Given the description of an element on the screen output the (x, y) to click on. 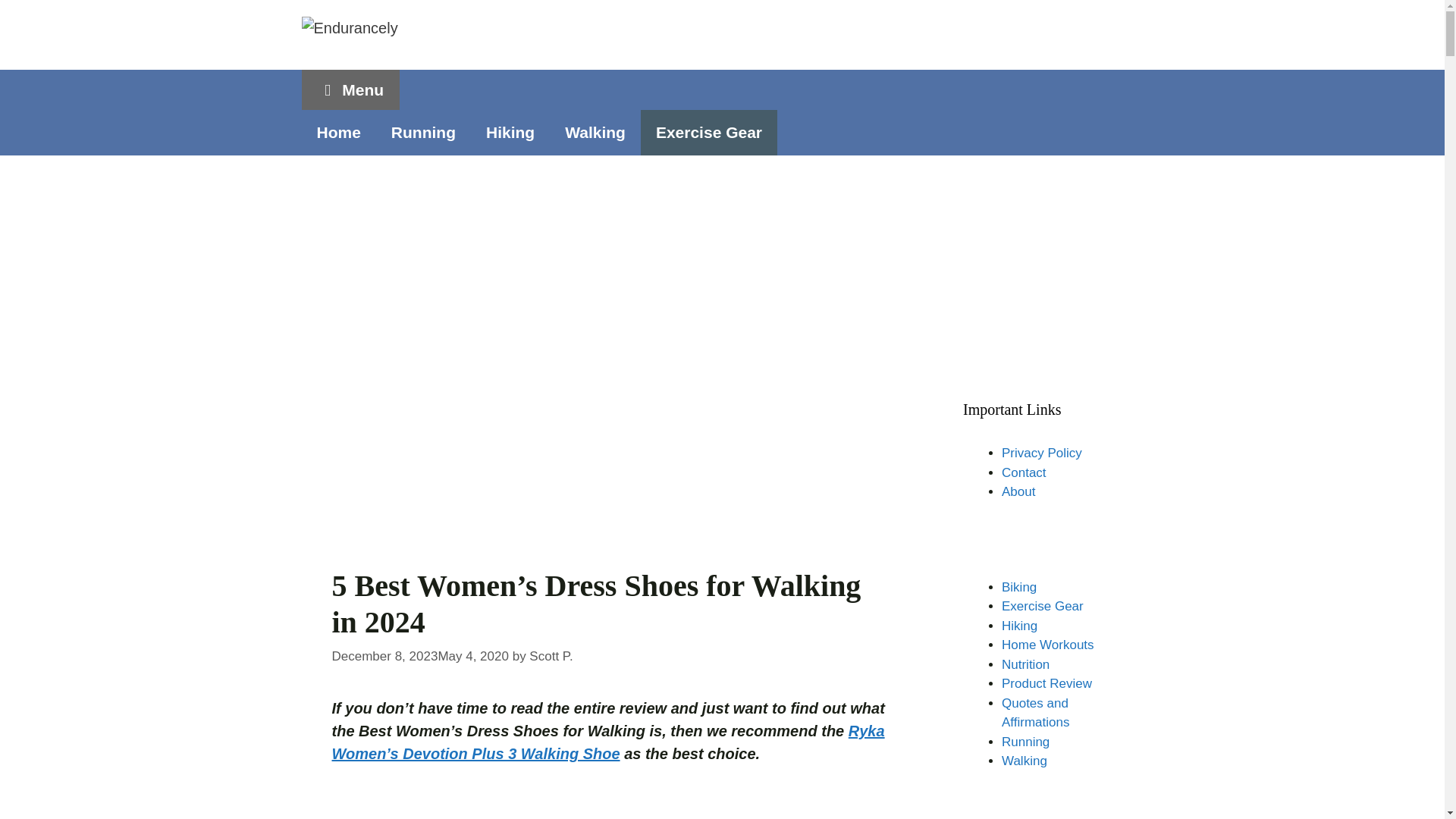
Hiking (510, 132)
Home (338, 132)
Exercise Gear (708, 132)
Walking (595, 132)
Running (422, 132)
View all posts by Scott P. (550, 656)
Menu (350, 89)
Scott P. (550, 656)
